Given the description of an element on the screen output the (x, y) to click on. 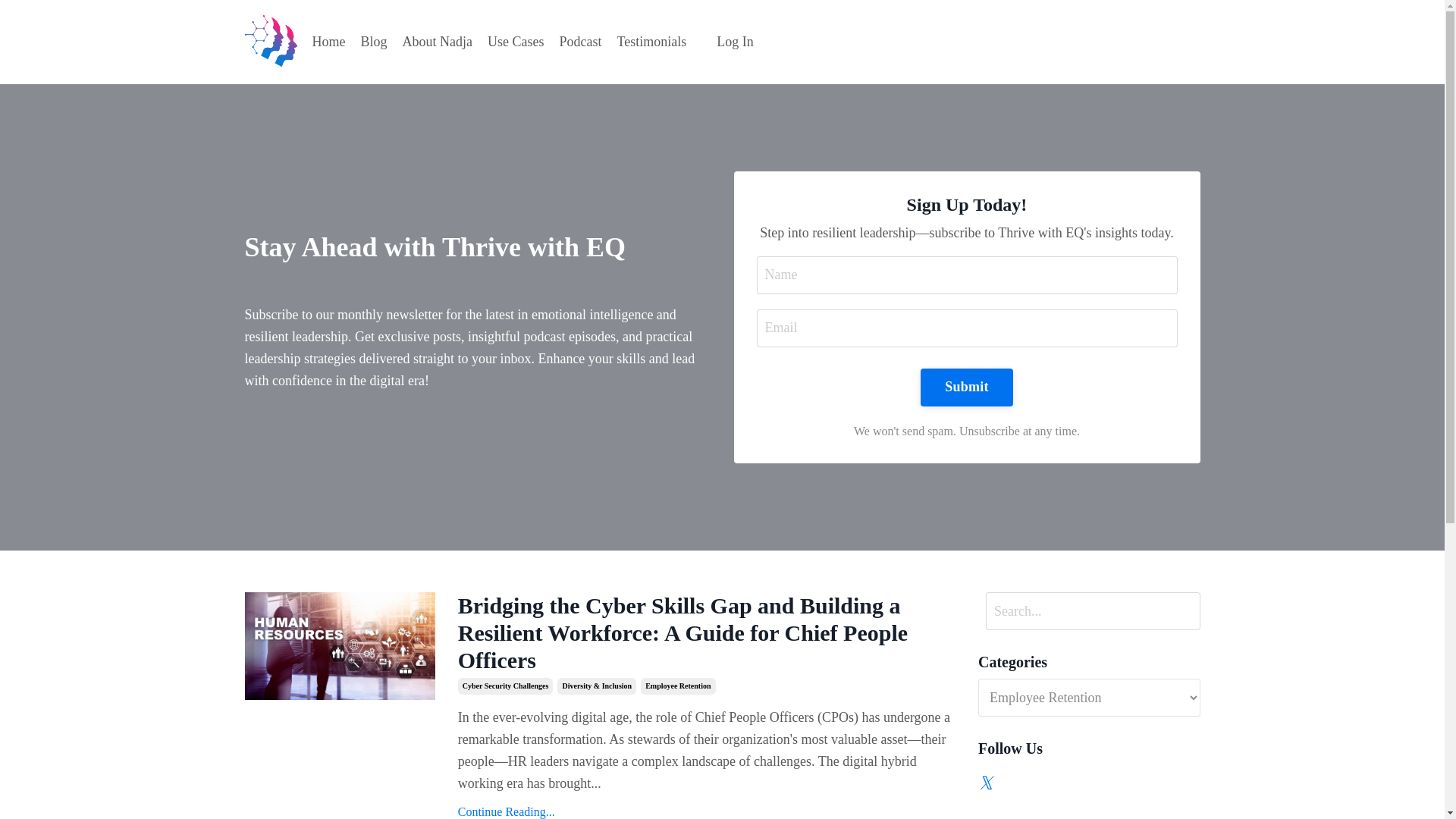
Log In (735, 41)
Continue Reading... (706, 810)
Submit (966, 387)
Employee Retention (677, 686)
Home (329, 42)
About Nadja (437, 42)
Use Cases (515, 42)
Cyber Security Challenges (505, 686)
Blog (374, 42)
